Given the description of an element on the screen output the (x, y) to click on. 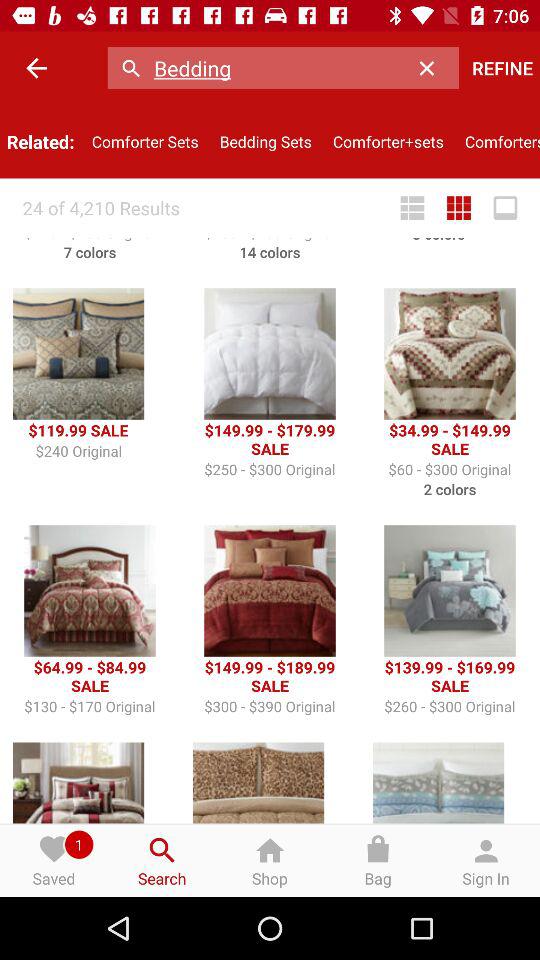
select the comforters (497, 141)
